Given the description of an element on the screen output the (x, y) to click on. 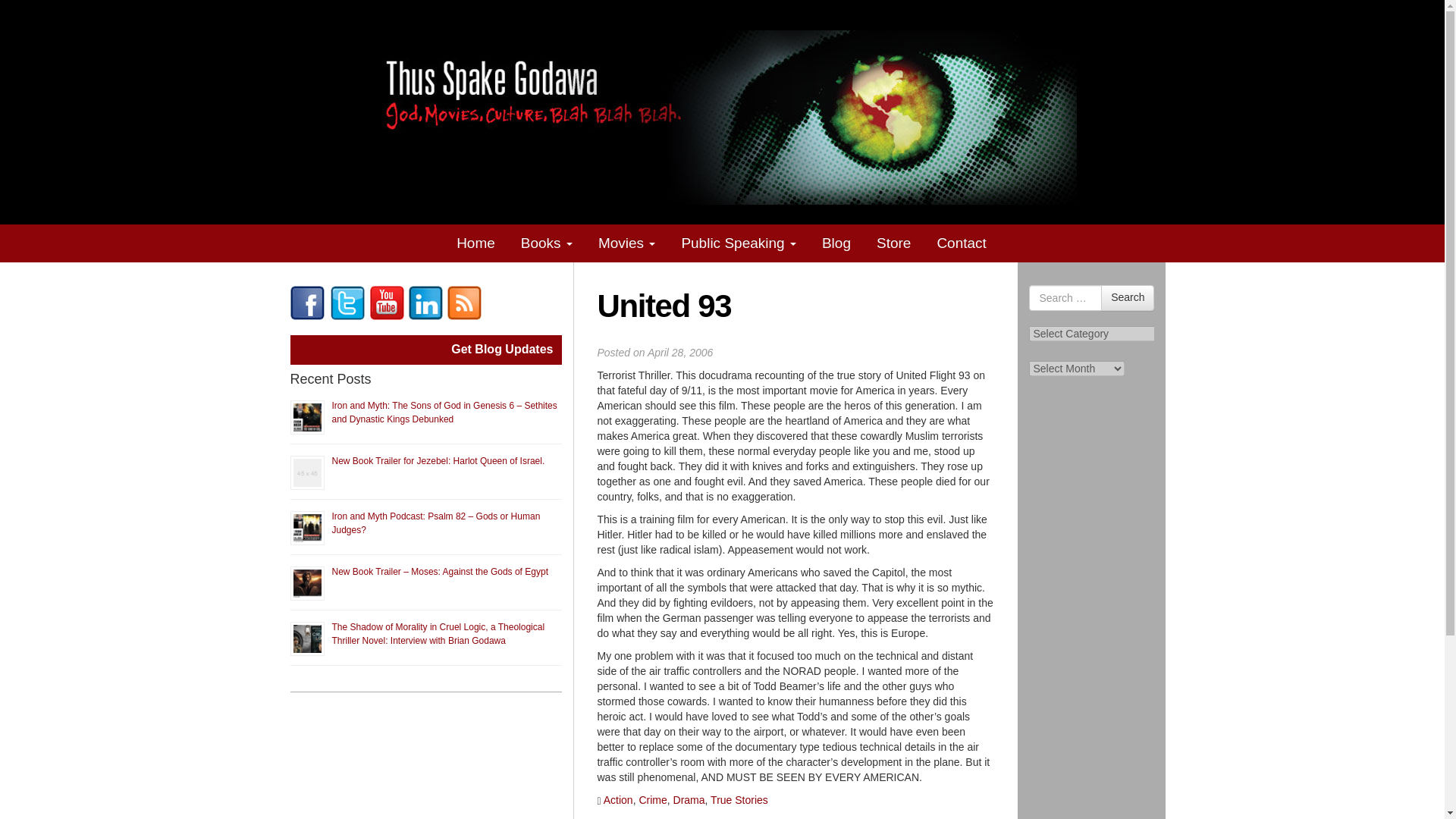
Home (476, 243)
Books (547, 243)
Store (894, 243)
Search for: (1065, 298)
Movies (627, 243)
8:57 am (680, 352)
Blog (836, 243)
Contact (961, 243)
Public Speaking (738, 243)
Hollywood Worldviews (306, 302)
